Given the description of an element on the screen output the (x, y) to click on. 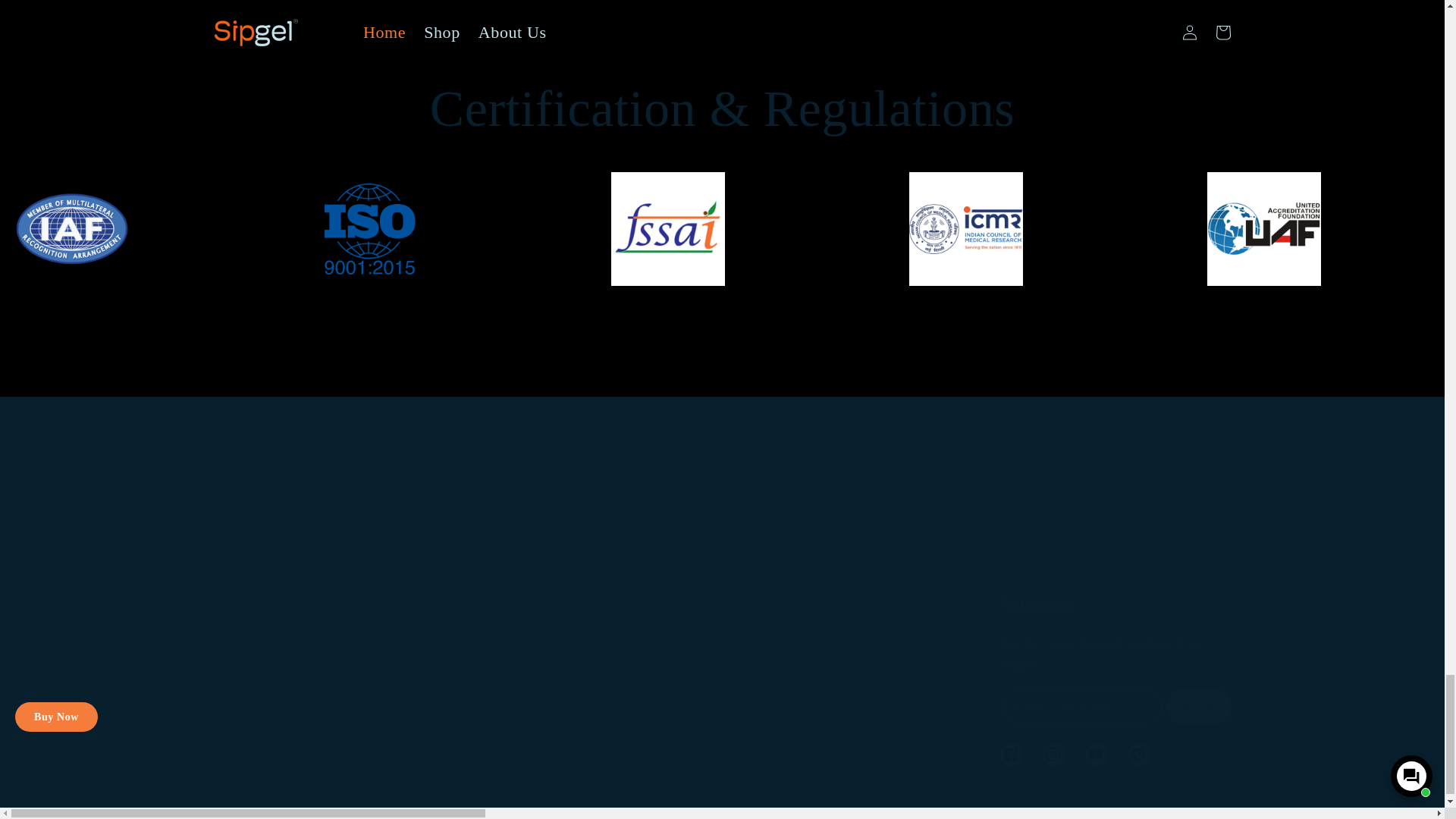
Scientifically Backed (561, 572)
Ingredients (534, 542)
FAQs (519, 601)
VOLUME (347, 681)
1mg (247, 613)
Amazon (390, 592)
Why Sipgel (536, 514)
